Given the description of an element on the screen output the (x, y) to click on. 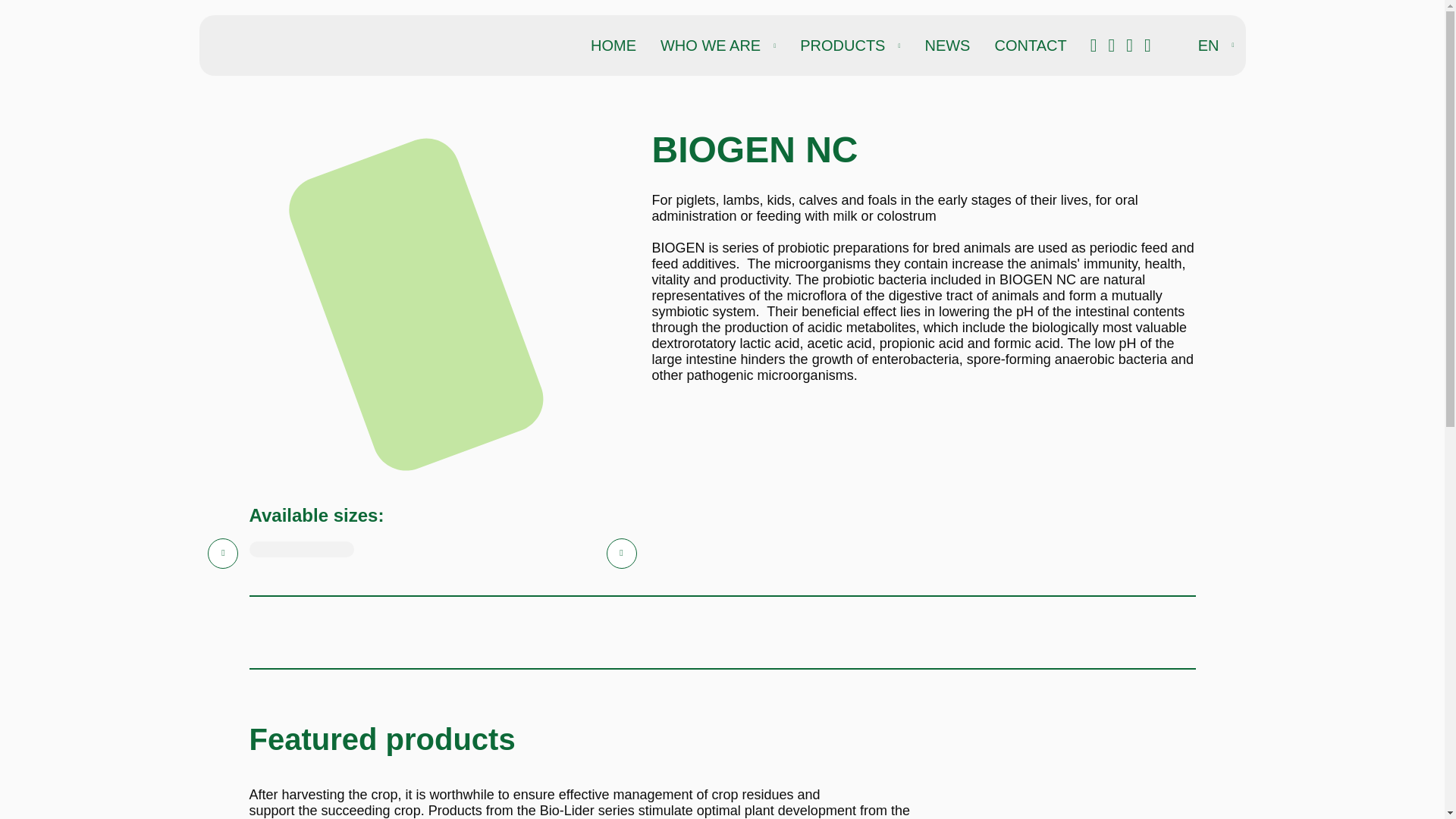
HOME (613, 44)
PRODUCTS (849, 44)
CONTACT (1029, 44)
WHO WE ARE (718, 44)
NEWS (946, 44)
